Given the description of an element on the screen output the (x, y) to click on. 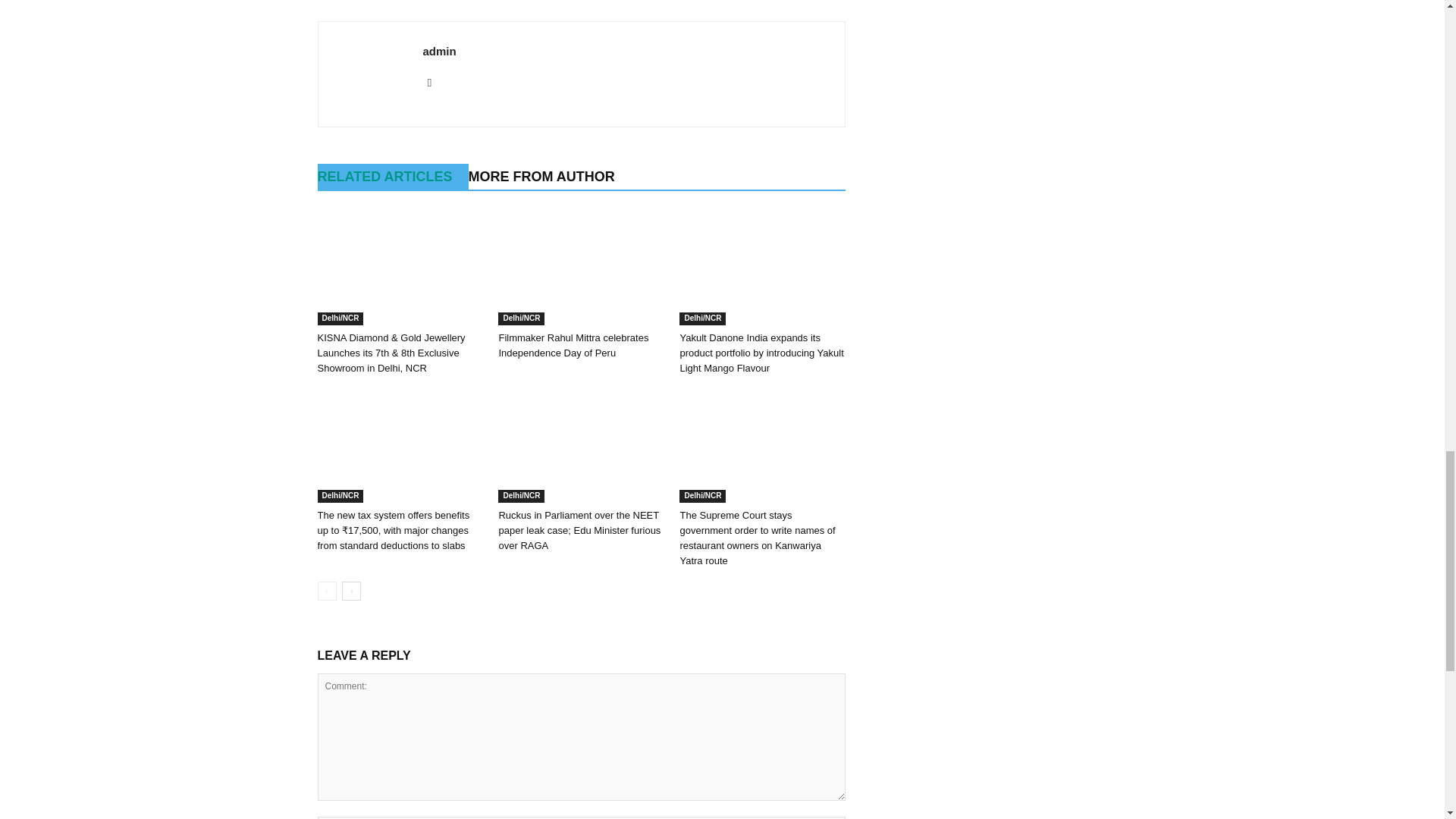
Youtube (435, 82)
